Given the description of an element on the screen output the (x, y) to click on. 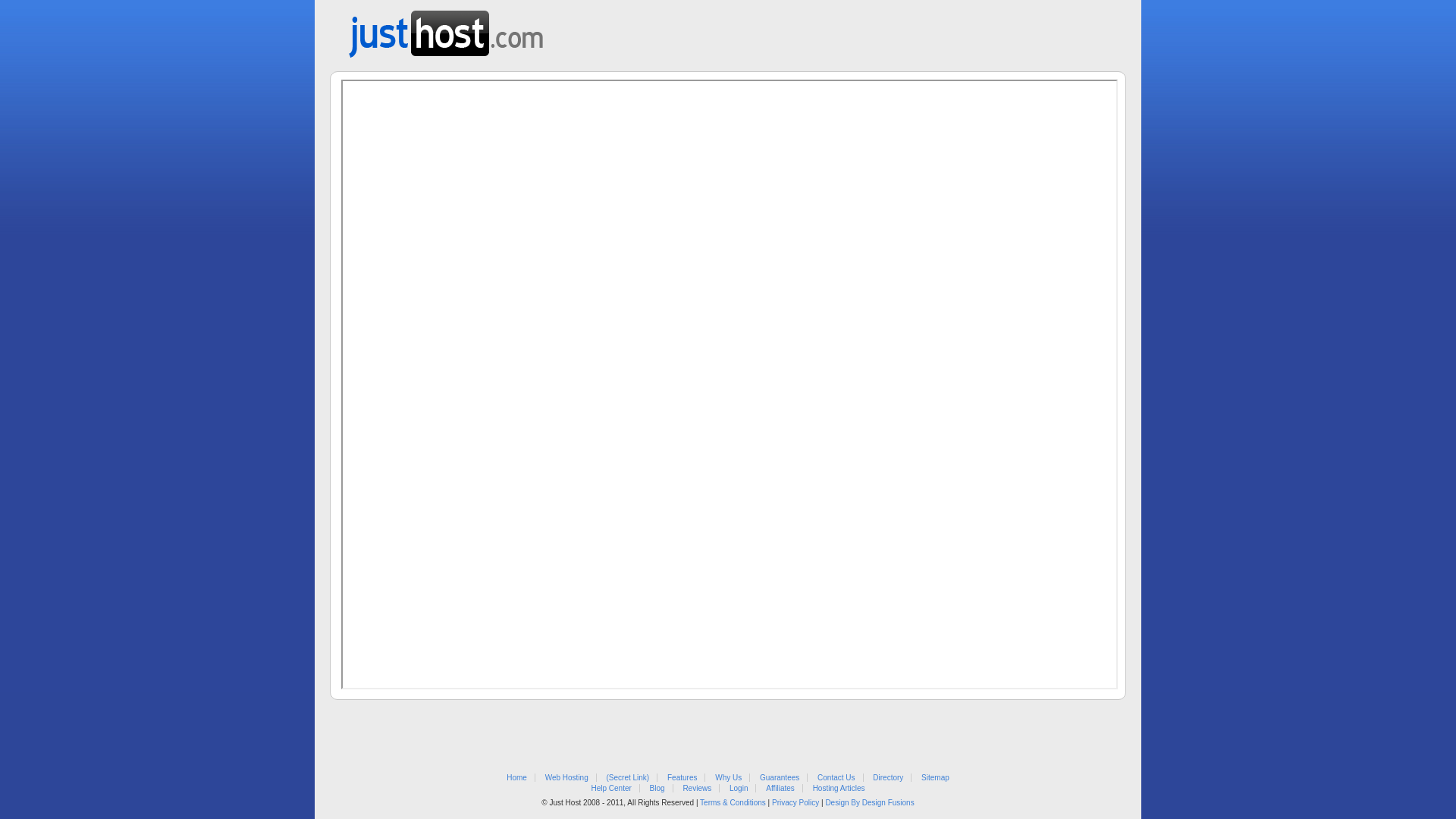
Help Center Element type: text (610, 788)
Design By Design Fusions Element type: text (869, 802)
Why Us Element type: text (728, 777)
Directory Element type: text (887, 777)
Reviews Element type: text (696, 788)
Web Hosting from Just Host Element type: text (445, 28)
Hosting Articles Element type: text (838, 788)
Login Element type: text (738, 788)
Home Element type: text (516, 777)
Guarantees Element type: text (779, 777)
Affiliates Element type: text (779, 788)
(Secret Link) Element type: text (627, 777)
Privacy Policy Element type: text (795, 802)
Sitemap Element type: text (935, 777)
Features Element type: text (681, 777)
Web Hosting Element type: text (566, 777)
Blog Element type: text (657, 788)
Contact Us Element type: text (835, 777)
Terms & Conditions Element type: text (732, 802)
